Given the description of an element on the screen output the (x, y) to click on. 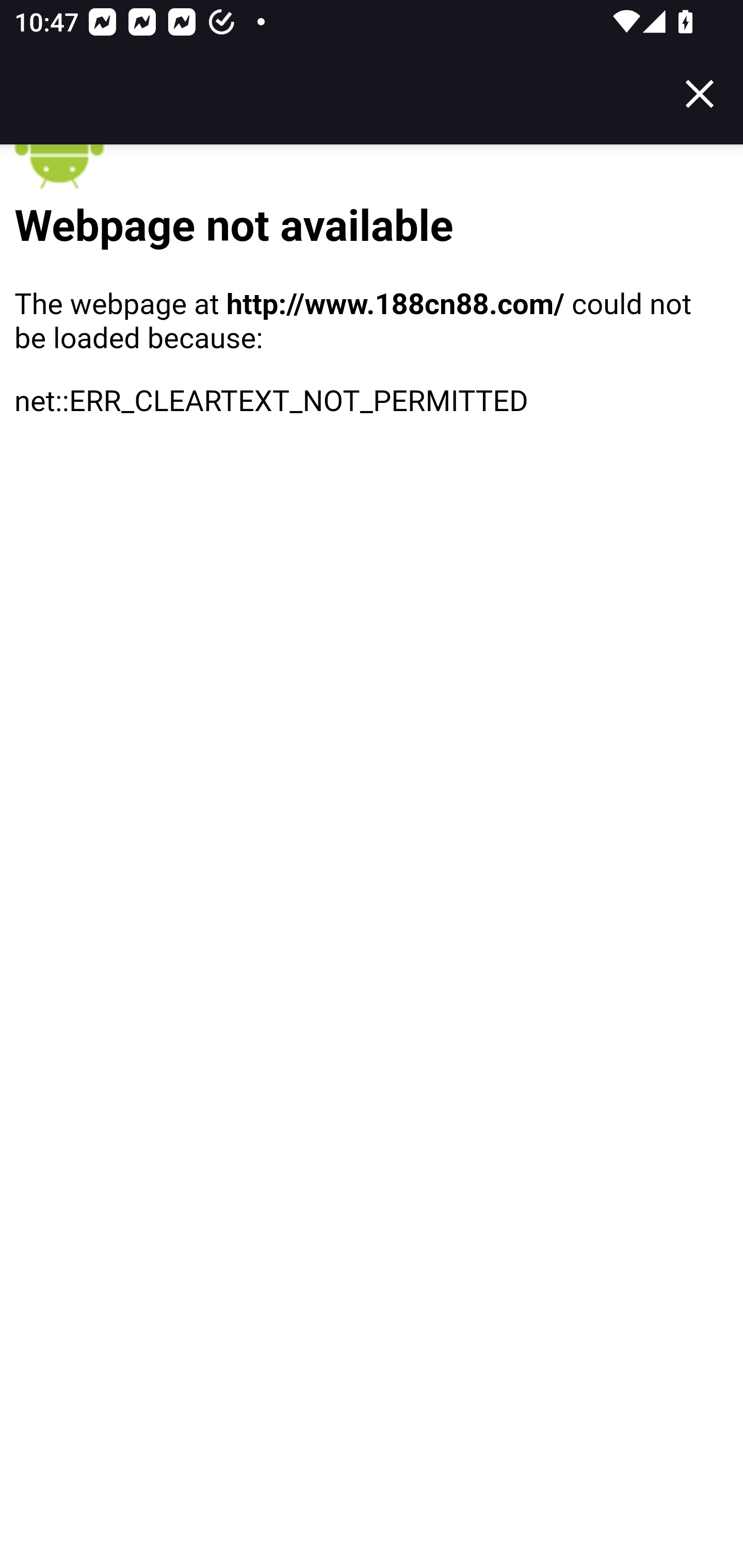
Close (699, 93)
